Given the description of an element on the screen output the (x, y) to click on. 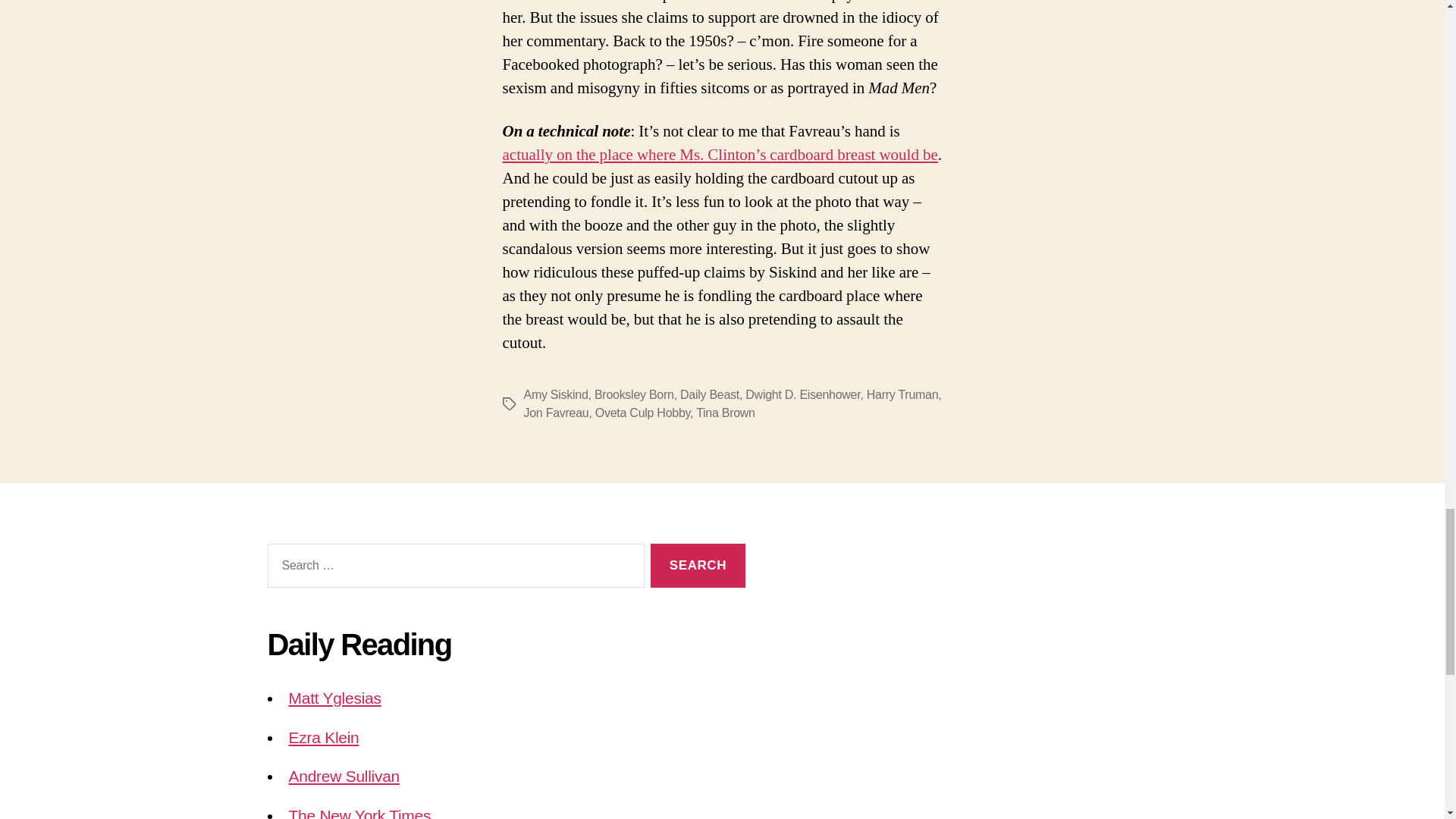
Search (697, 565)
Amy Siskind (555, 394)
Search (697, 565)
Dwight D. Eisenhower (802, 394)
Brooksley Born (634, 394)
Daily Beast (709, 394)
